Given the description of an element on the screen output the (x, y) to click on. 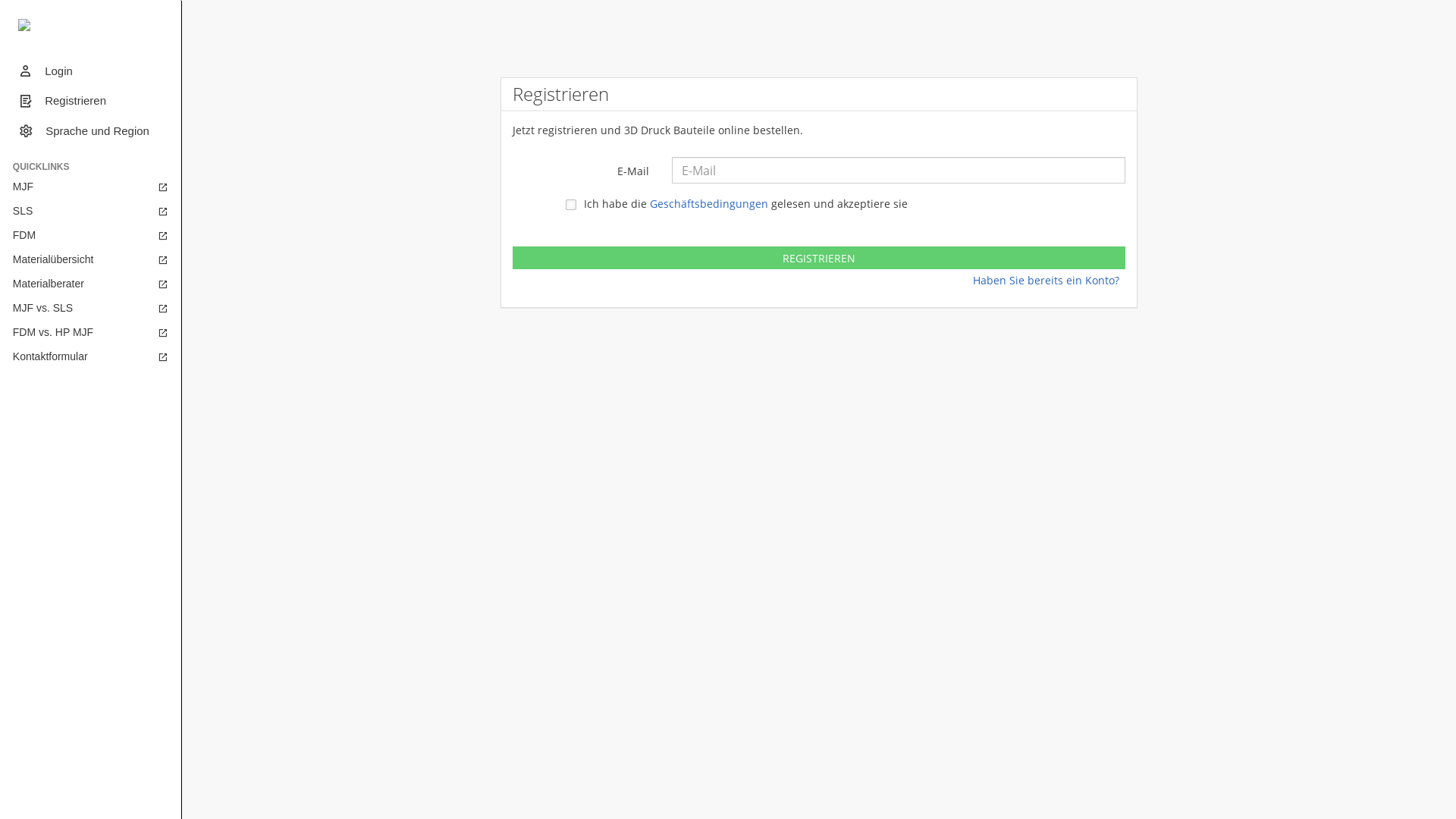
REGISTRIEREN Element type: text (818, 257)
SLS
link Element type: text (90, 210)
setting Sprache und Region Element type: text (90, 130)
Kontaktformular
link Element type: text (90, 356)
user Login Element type: text (90, 70)
MJF
link Element type: text (90, 186)
MJF vs. SLS
link Element type: text (90, 307)
Haben Sie bereits ein Konto?   Element type: text (1048, 280)
request Registrieren Element type: text (90, 100)
FDM
link Element type: text (90, 234)
FDM vs. HP MJF
link Element type: text (90, 332)
Materialberater
link Element type: text (90, 283)
